Given the description of an element on the screen output the (x, y) to click on. 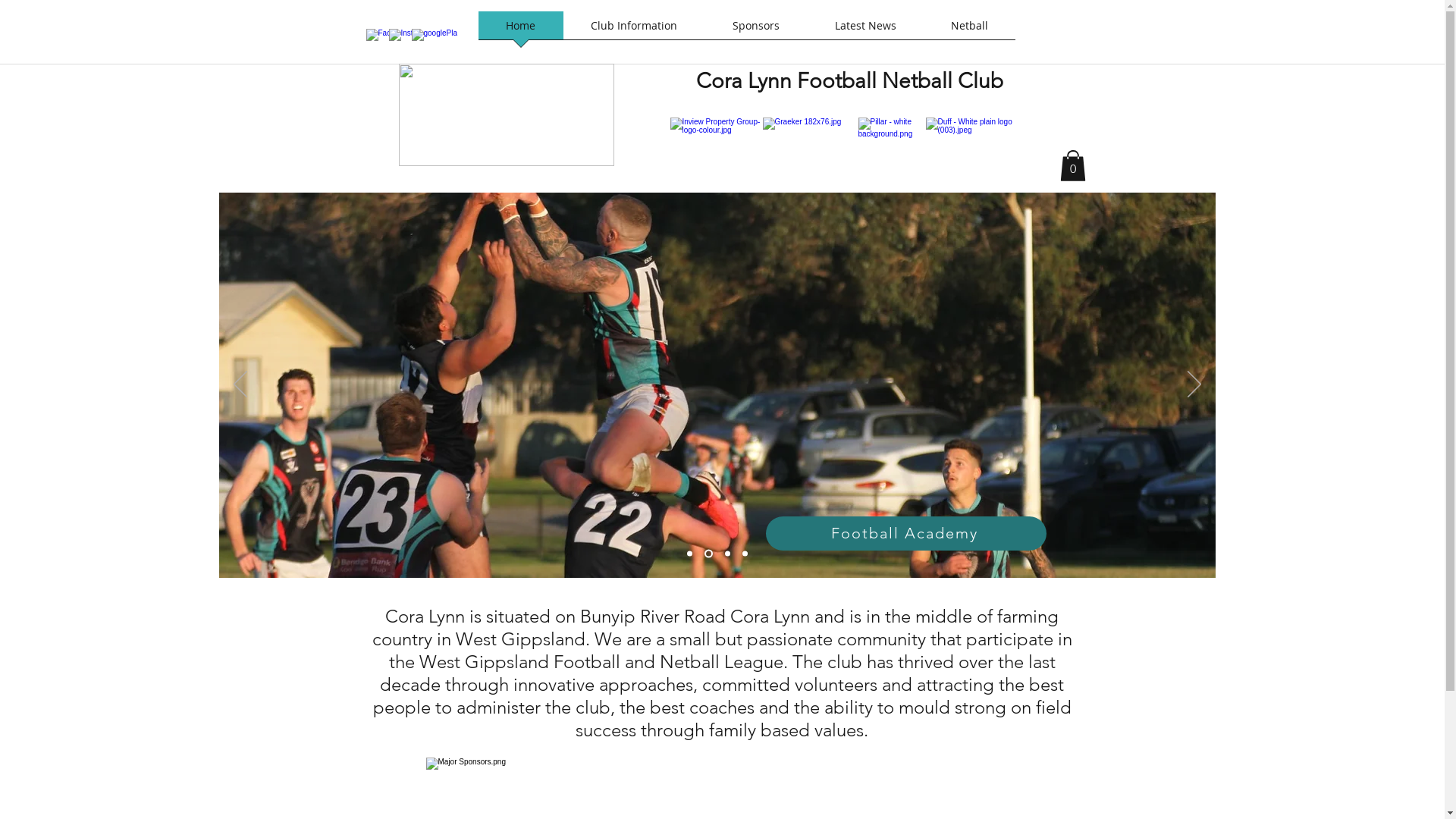
Sponsors Element type: text (756, 30)
Netball Element type: text (969, 30)
Latest News Element type: text (864, 30)
Football Academy Element type: text (905, 533)
Home Element type: text (519, 30)
0 Element type: text (1072, 165)
website logo transparent.png Element type: hover (506, 114)
